Given the description of an element on the screen output the (x, y) to click on. 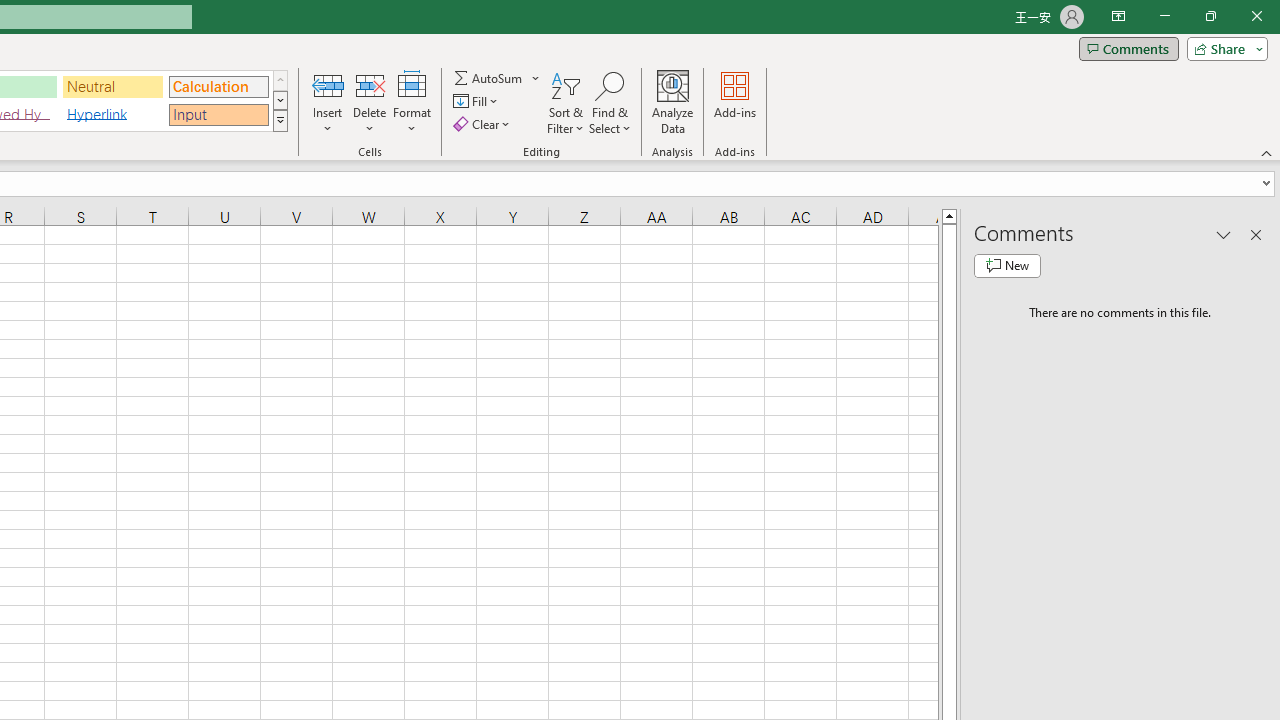
Restore Down (1210, 16)
Neutral (113, 86)
Calculation (218, 86)
Sum (489, 78)
Input (218, 114)
Class: NetUIImage (280, 120)
Insert Cells (328, 84)
Delete (369, 102)
Sort & Filter (566, 102)
Row Down (280, 100)
New comment (1007, 265)
